Given the description of an element on the screen output the (x, y) to click on. 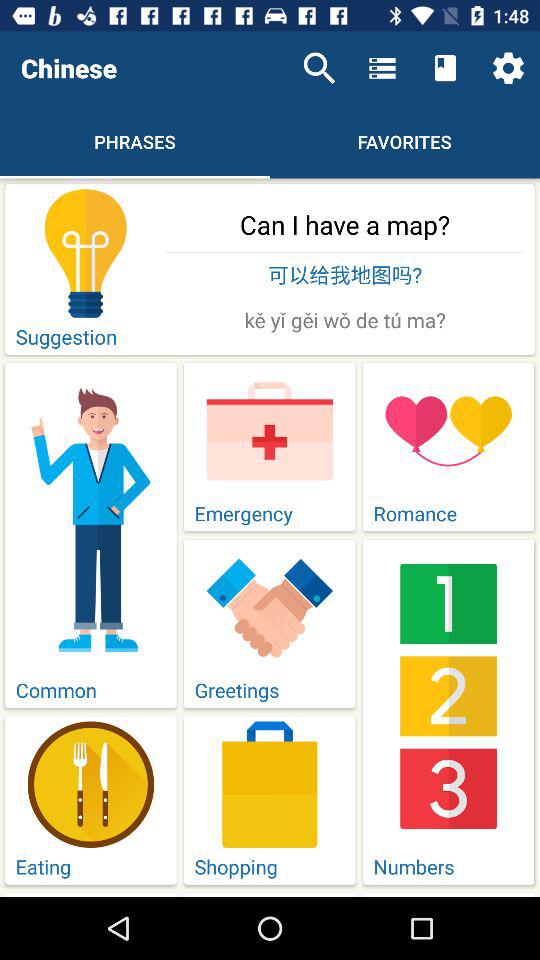
choose icon above favorites (444, 67)
